Given the description of an element on the screen output the (x, y) to click on. 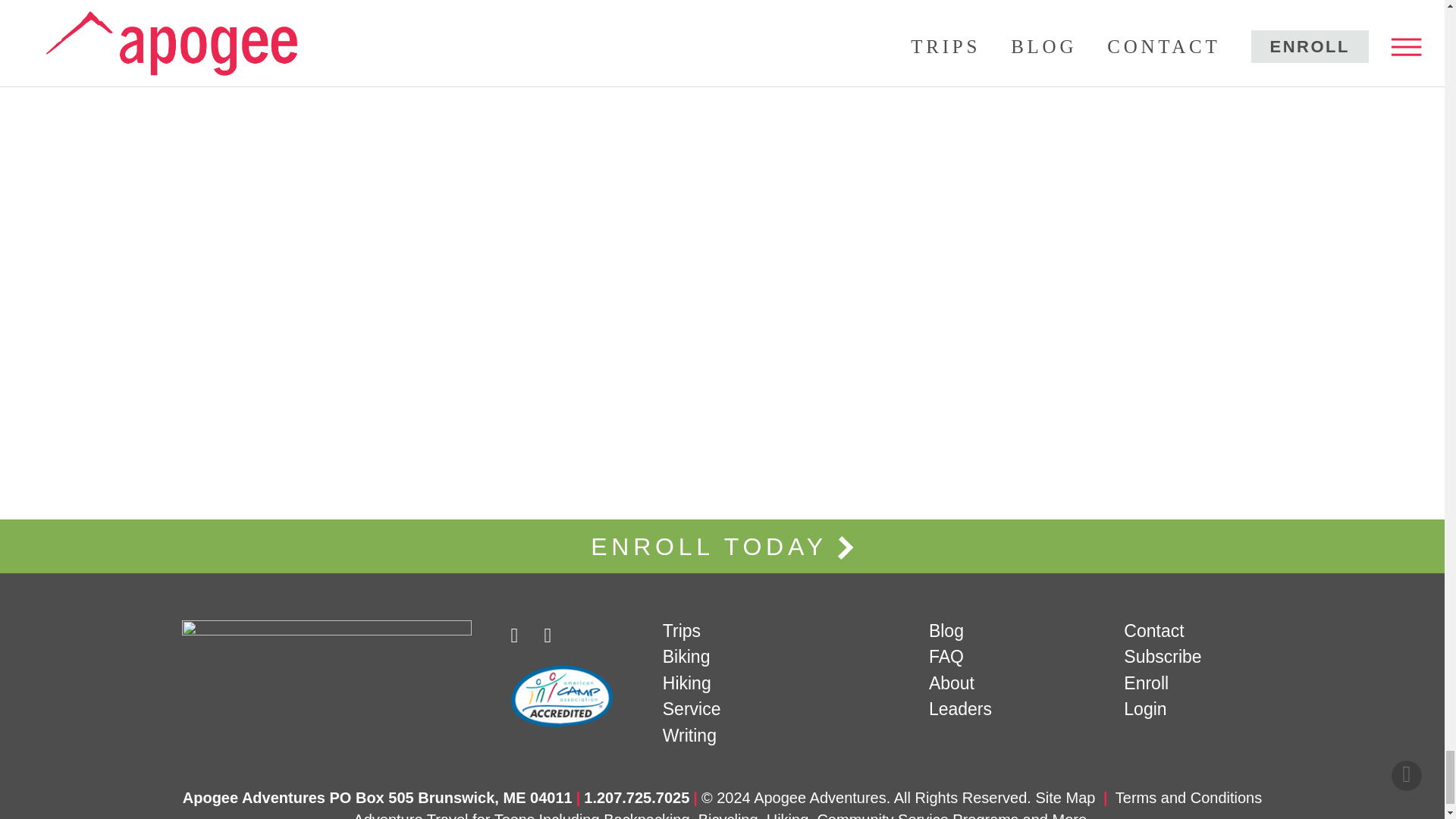
Apogee Adventures (333, 630)
Summer Hiking Programs (686, 682)
Summer Bike Trips (686, 656)
Summer Community Service Programs (691, 709)
